Given the description of an element on the screen output the (x, y) to click on. 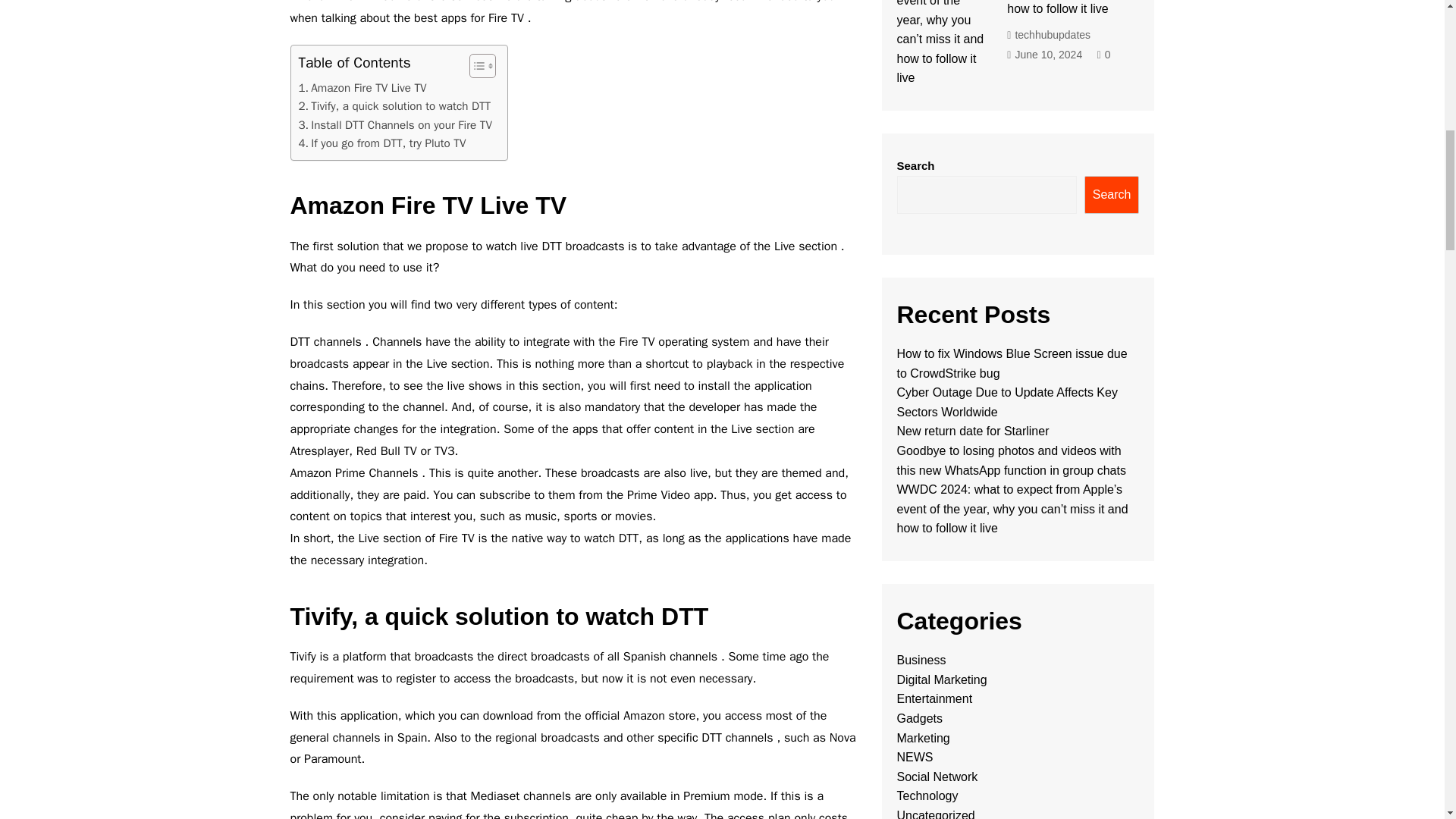
If you go from DTT, try Pluto TV (381, 143)
Tivify, a quick solution to watch DTT (395, 106)
If you go from DTT, try Pluto TV (381, 143)
Amazon Fire TV Live TV (362, 87)
Amazon Fire TV Live TV (362, 87)
Tivify, a quick solution to watch DTT (395, 106)
Install DTT Channels on your Fire TV (395, 125)
Install DTT Channels on your Fire TV (395, 125)
